Given the description of an element on the screen output the (x, y) to click on. 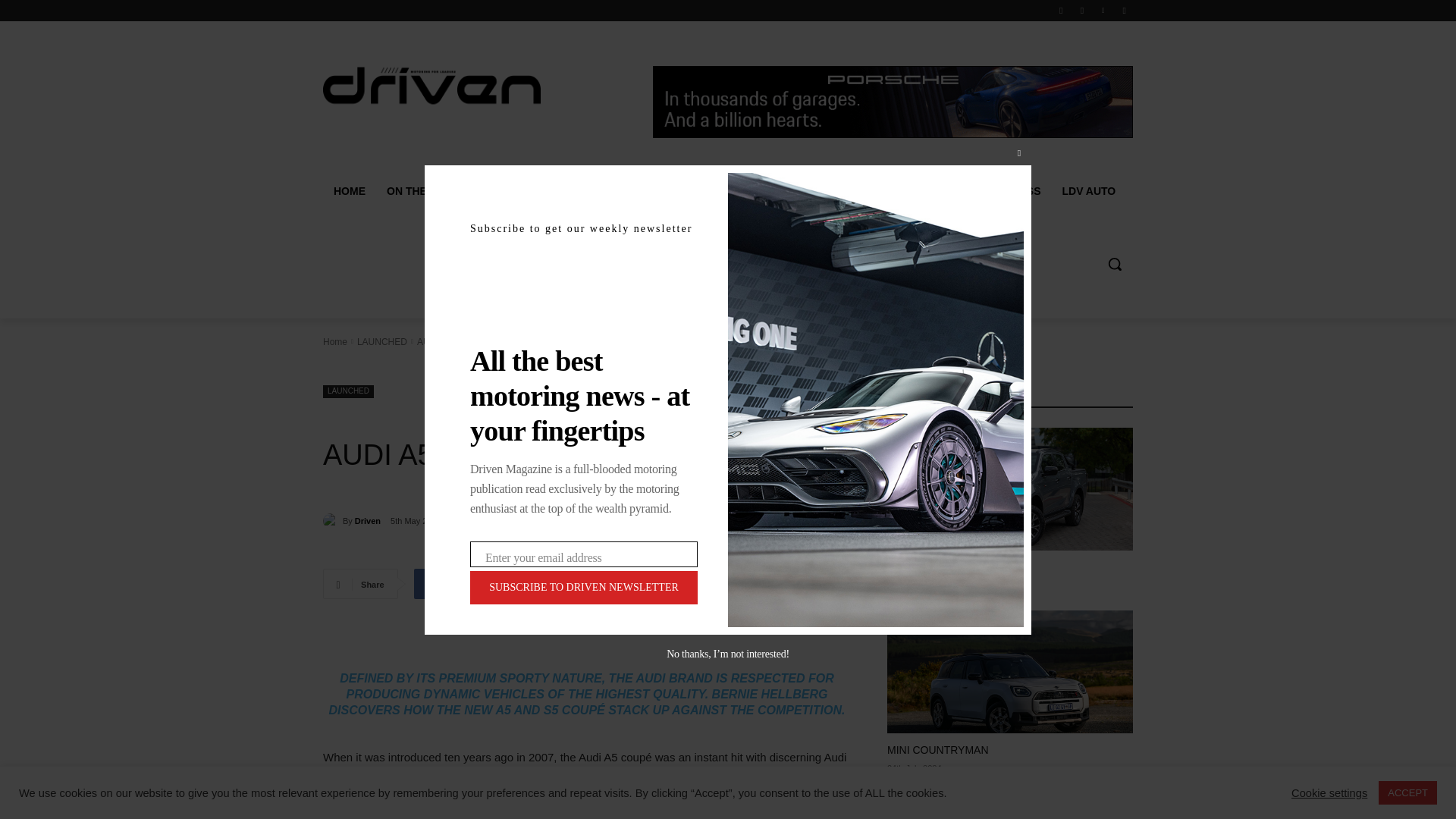
Facebook (1061, 9)
LEISURE DRIVE (680, 190)
REVIEWS (589, 190)
ON THE COVER (431, 190)
Instagram (1082, 9)
HOME (349, 190)
HOME (349, 190)
Twitter (1103, 9)
Youtube (1123, 9)
NEWS (518, 190)
